Given the description of an element on the screen output the (x, y) to click on. 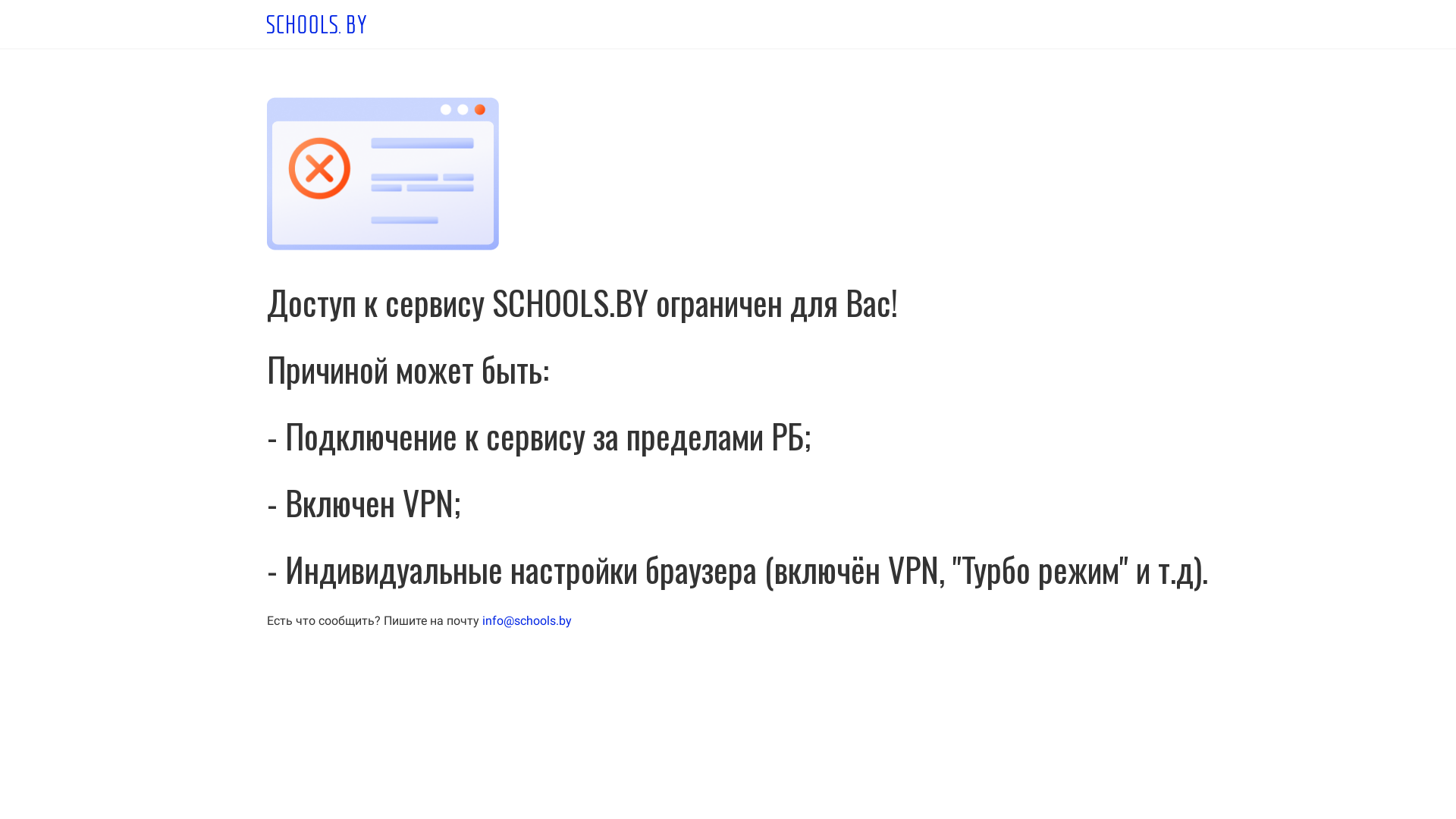
info@schools.by Element type: text (526, 620)
